Given the description of an element on the screen output the (x, y) to click on. 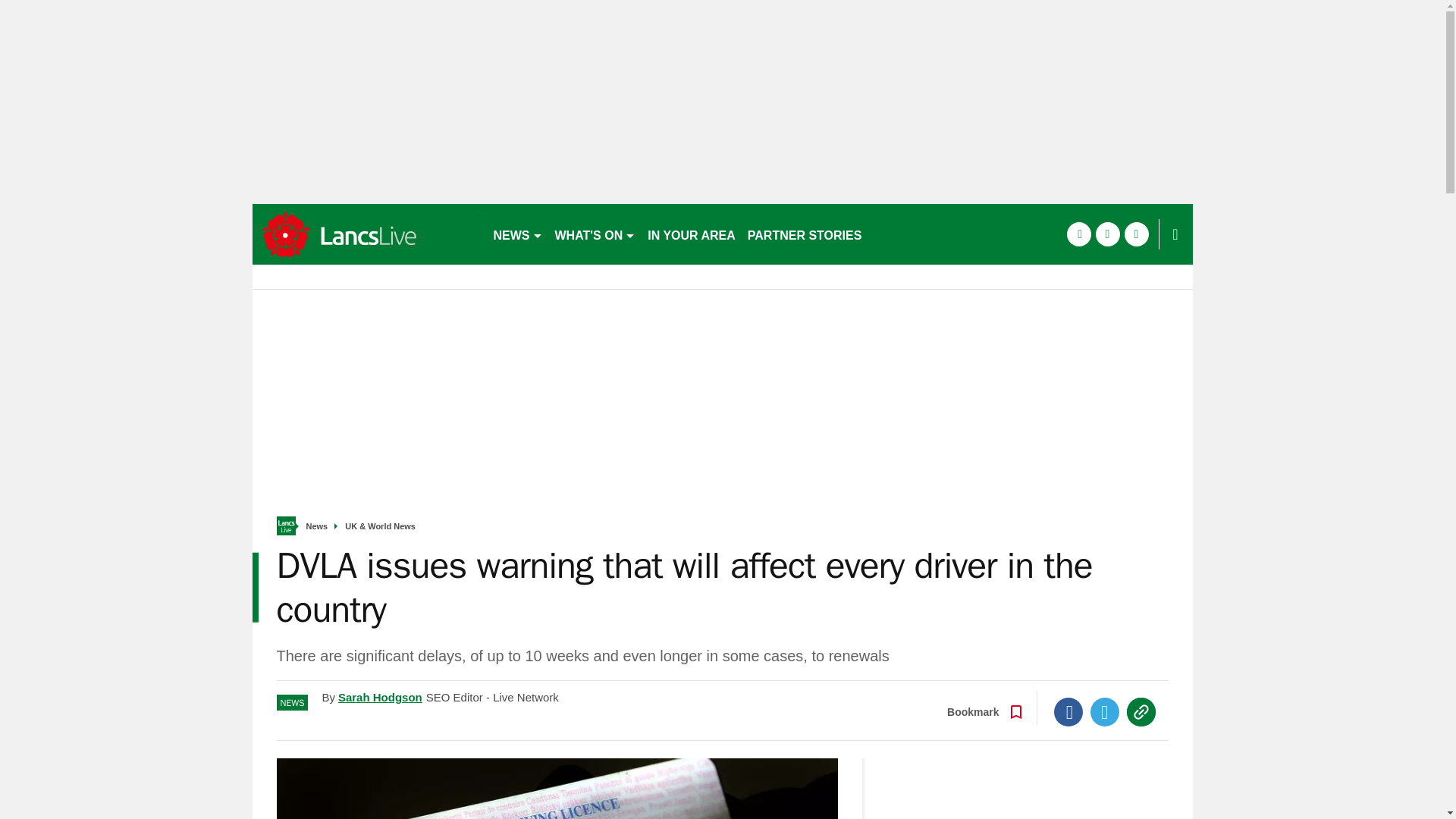
PARTNER STORIES (804, 233)
NEWS (517, 233)
WHAT'S ON (595, 233)
Twitter (1104, 711)
facebook (1077, 233)
twitter (1106, 233)
IN YOUR AREA (691, 233)
instagram (1136, 233)
accrington (365, 233)
Facebook (1068, 711)
